Given the description of an element on the screen output the (x, y) to click on. 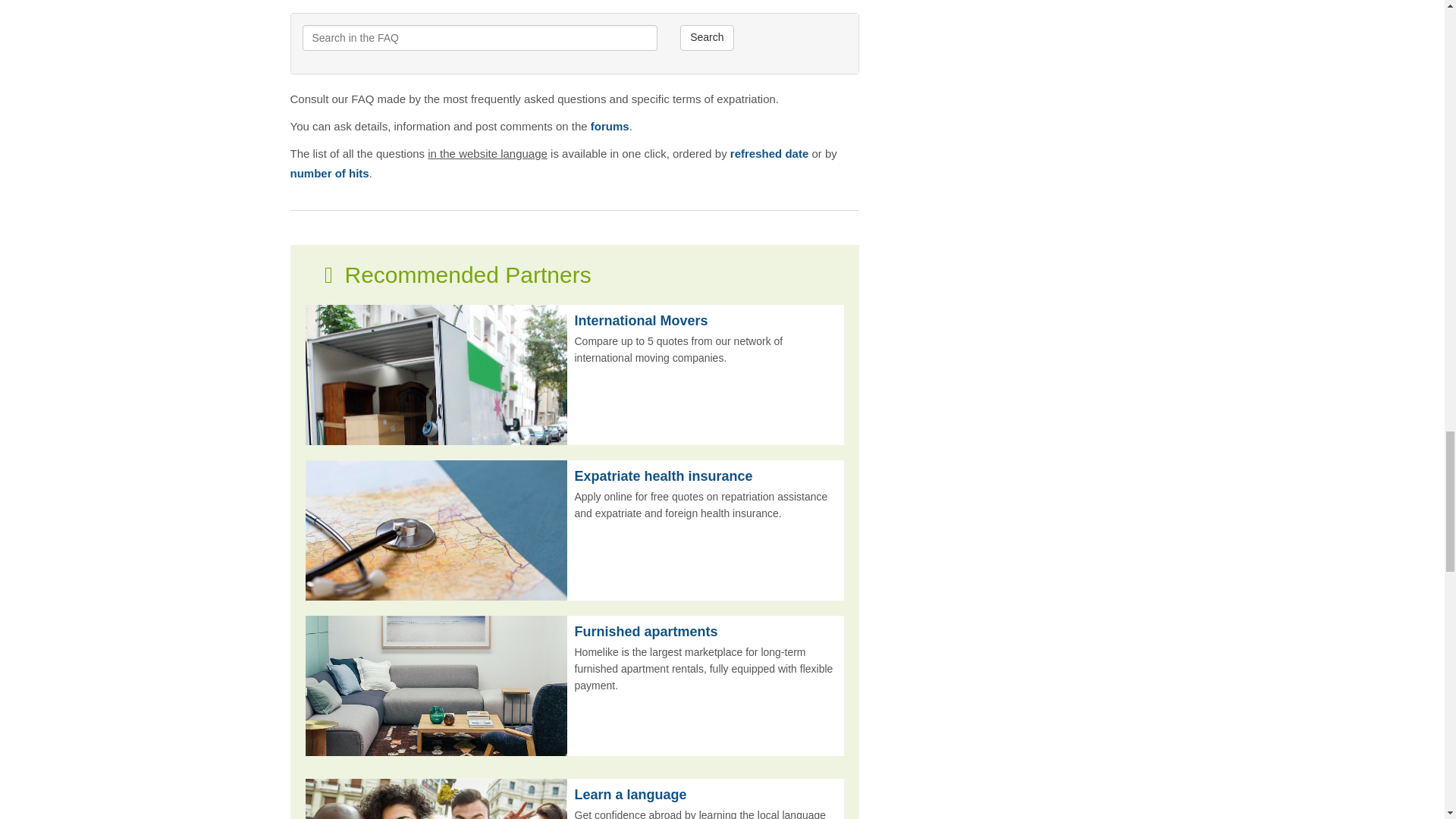
Search (706, 37)
